Given the description of an element on the screen output the (x, y) to click on. 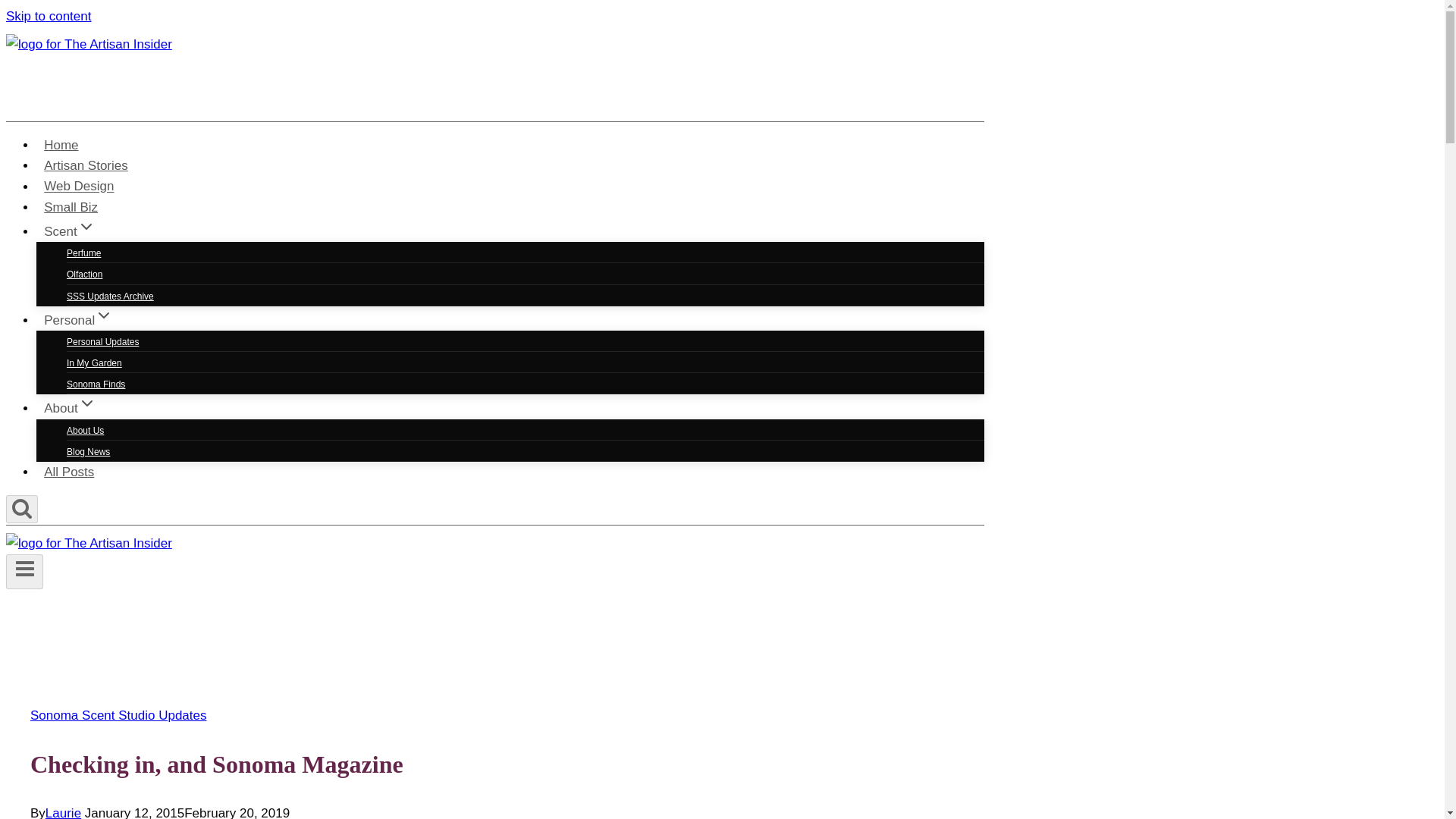
Skip to content (47, 16)
Small Biz (70, 206)
Laurie (63, 812)
Perfume (83, 252)
Toggle Menu (23, 568)
All Posts (68, 471)
PersonalExpand (78, 319)
Skip to content (47, 16)
In My Garden (94, 363)
Toggle Menu (24, 571)
Personal Updates (102, 341)
About Us (84, 430)
Expand (86, 226)
Search (21, 507)
Sonoma Scent Studio Updates (118, 715)
